Given the description of an element on the screen output the (x, y) to click on. 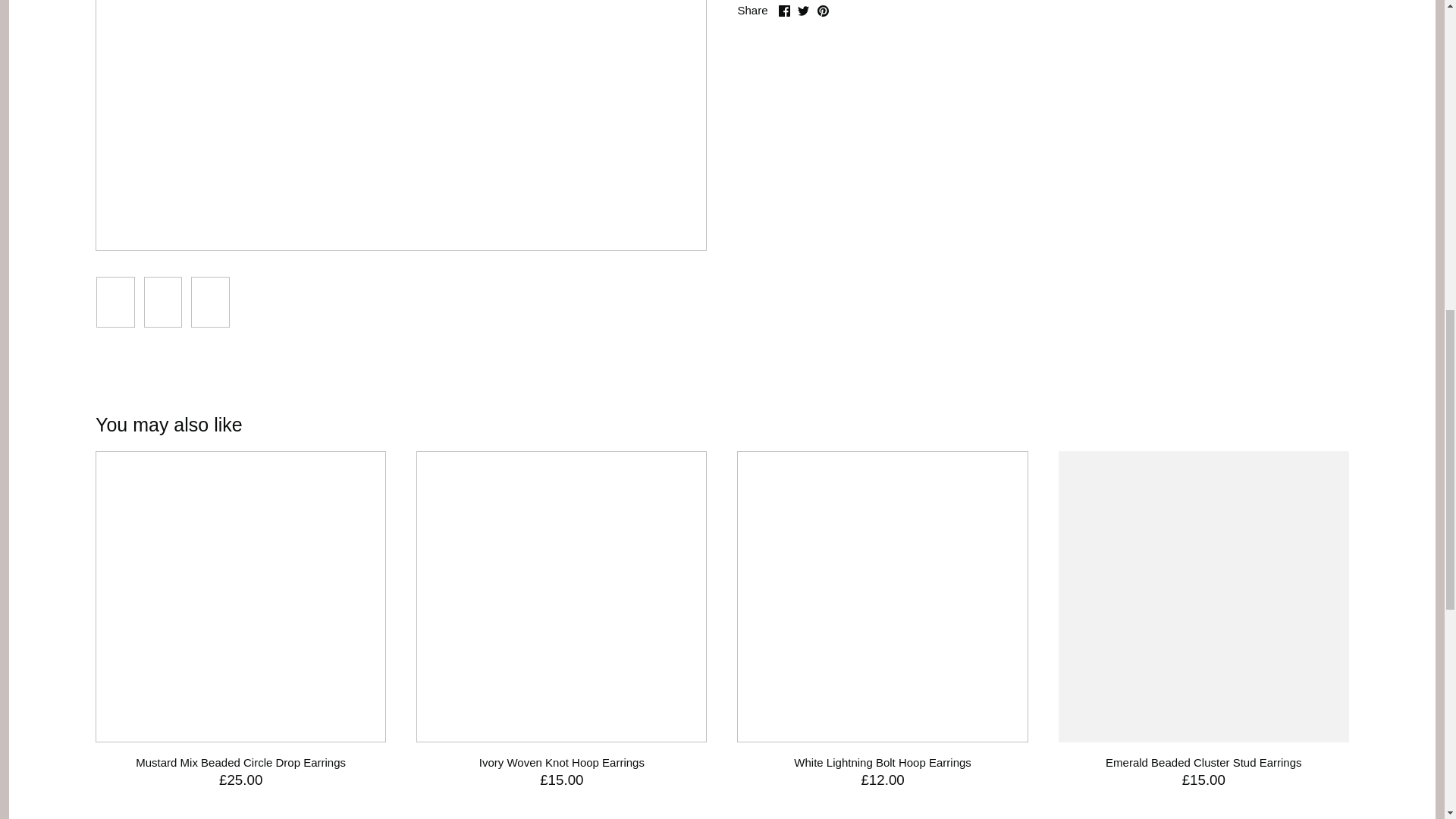
Twitter (803, 10)
Facebook (784, 10)
Pinterest (822, 10)
